Given the description of an element on the screen output the (x, y) to click on. 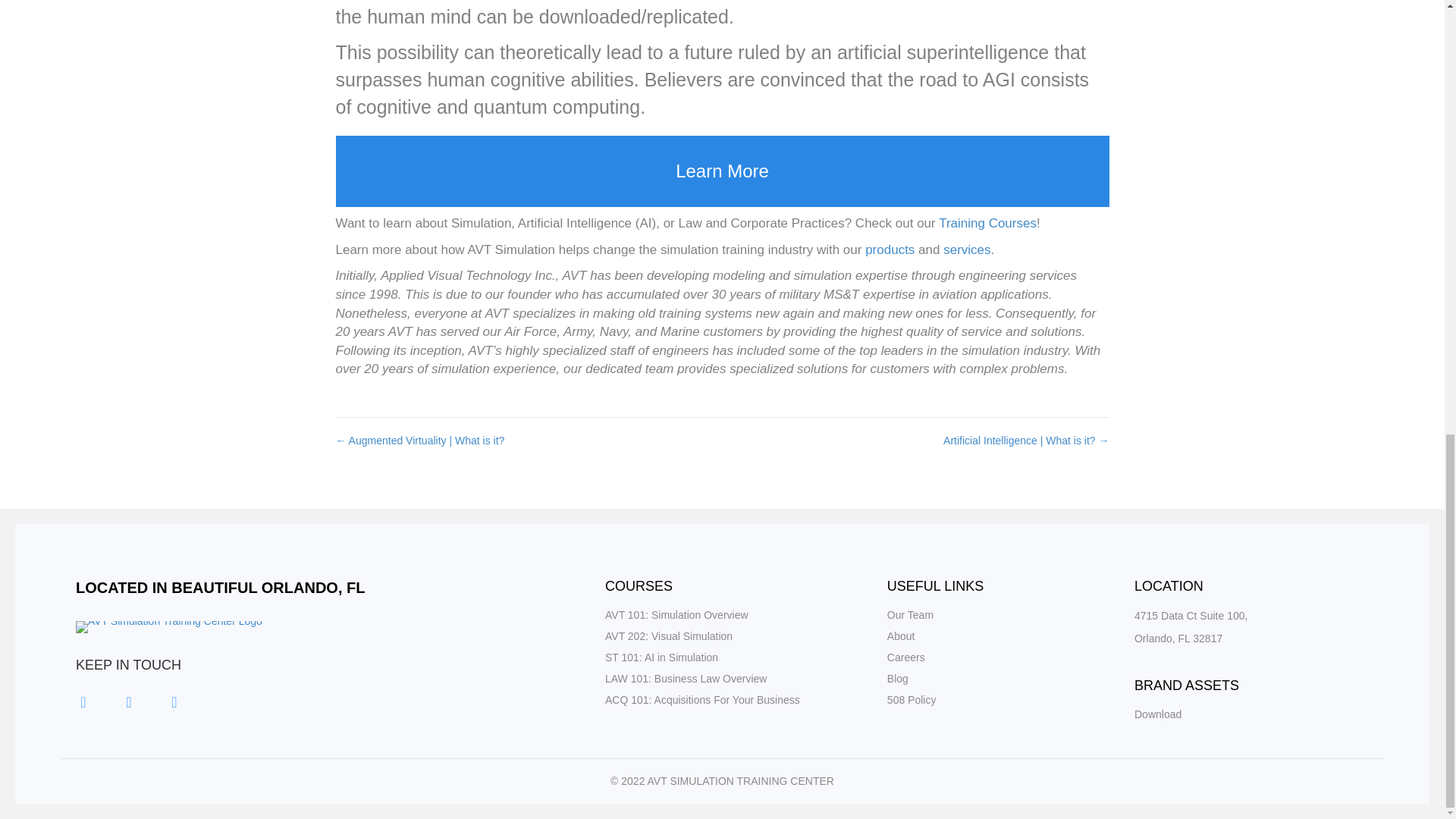
4715 Data Ct Suite 100, (1190, 615)
About (900, 635)
Download (1157, 714)
AVT Simulation Training Center Logo (168, 626)
ST 101: AI in Simulation (661, 657)
Our Team (909, 614)
Blog (897, 678)
services (966, 249)
LOCATION (1169, 585)
LAW 101: Business Law Overview (686, 678)
Careers (905, 657)
AVT 101: Simulation Overview (676, 614)
products (889, 249)
508 Policy (911, 699)
Twitter (128, 701)
